Given the description of an element on the screen output the (x, y) to click on. 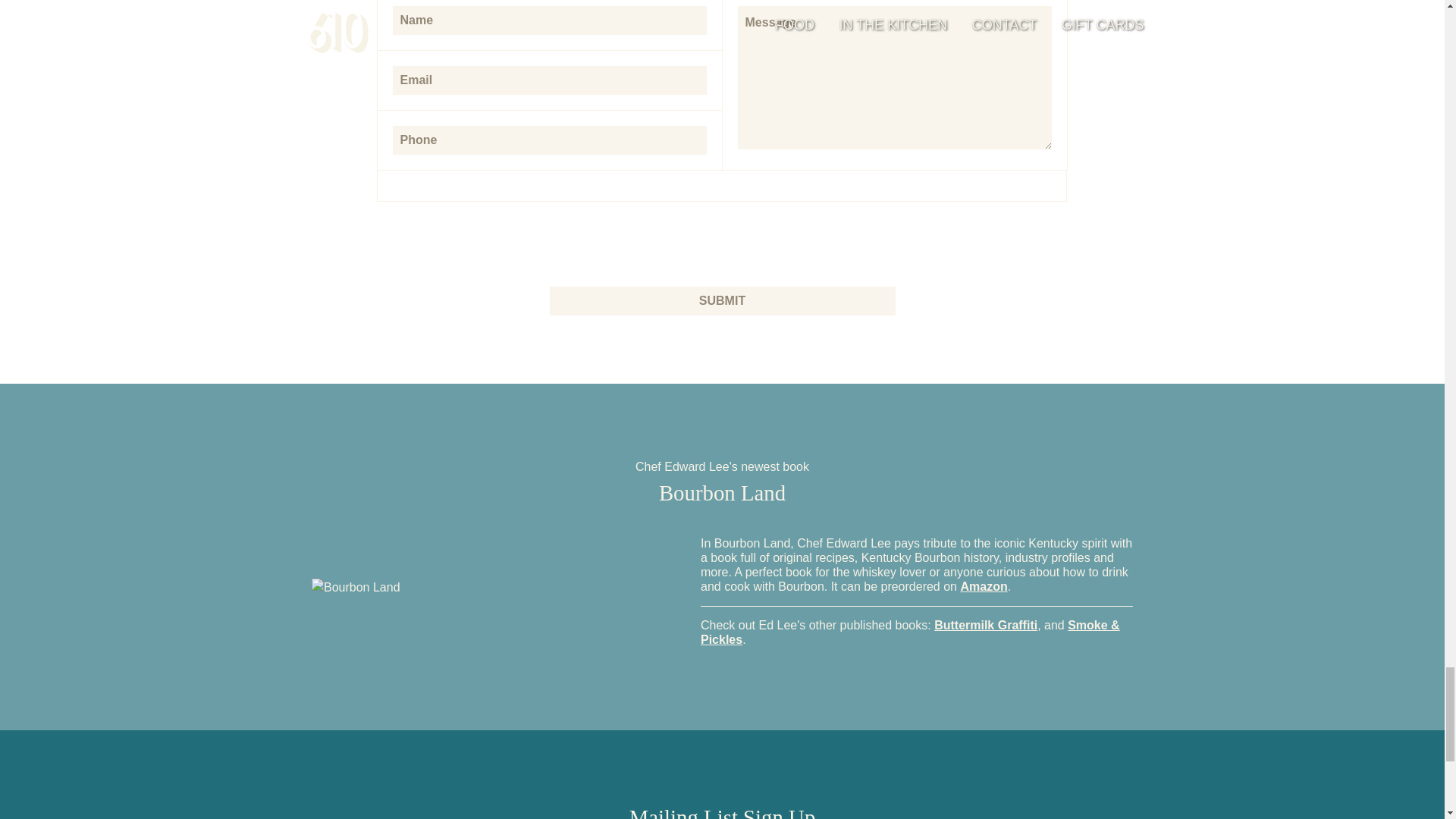
Buttermilk Graffiti (985, 625)
Submit (721, 300)
Submit (721, 300)
Bourbon Land  (355, 587)
Amazon (983, 585)
